Given the description of an element on the screen output the (x, y) to click on. 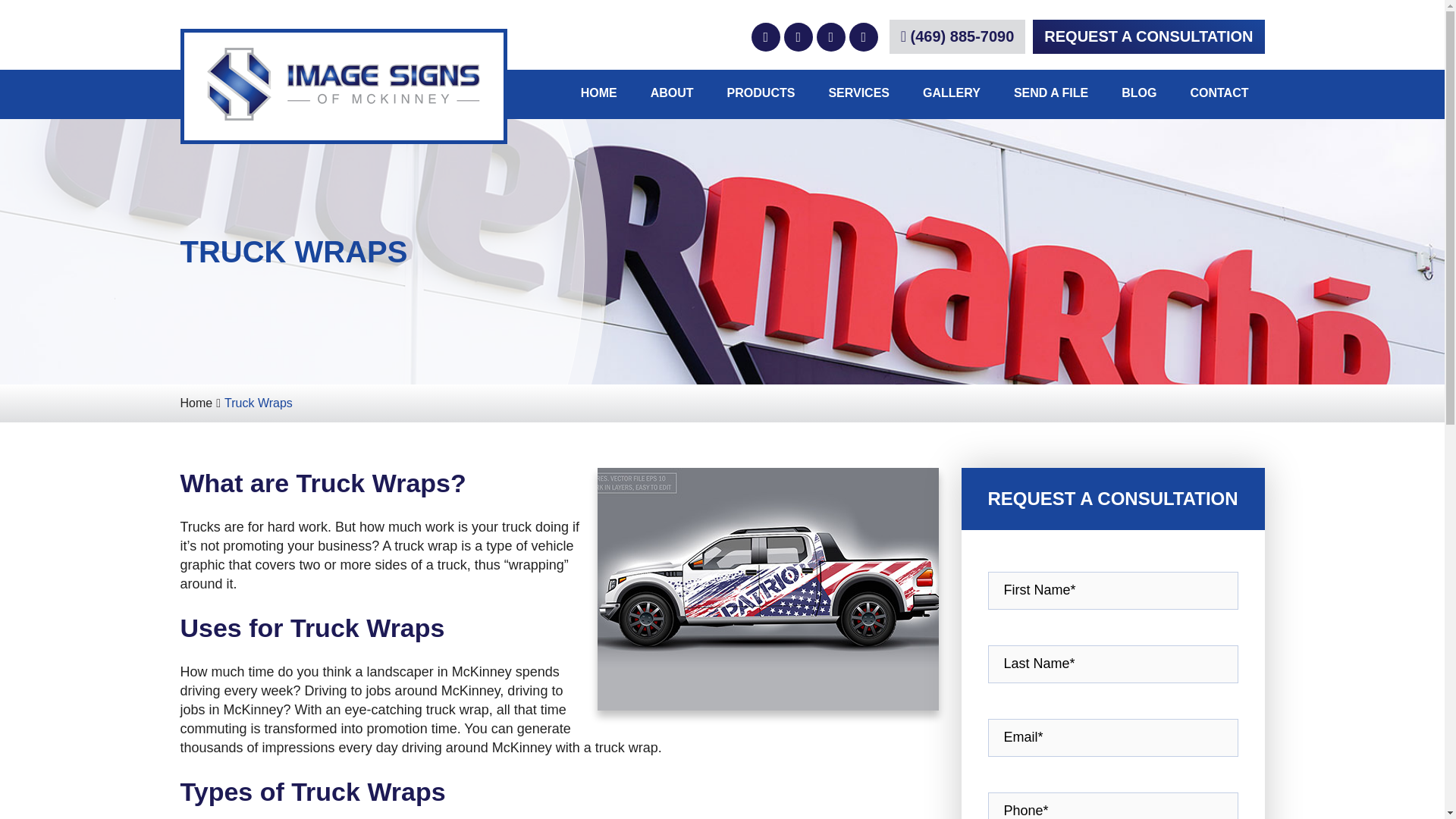
HOME (598, 92)
ABOUT (671, 93)
PRODUCTS (760, 93)
REQUEST A CONSULTATION (1147, 36)
Image Signs of Mckinney (343, 86)
